Given the description of an element on the screen output the (x, y) to click on. 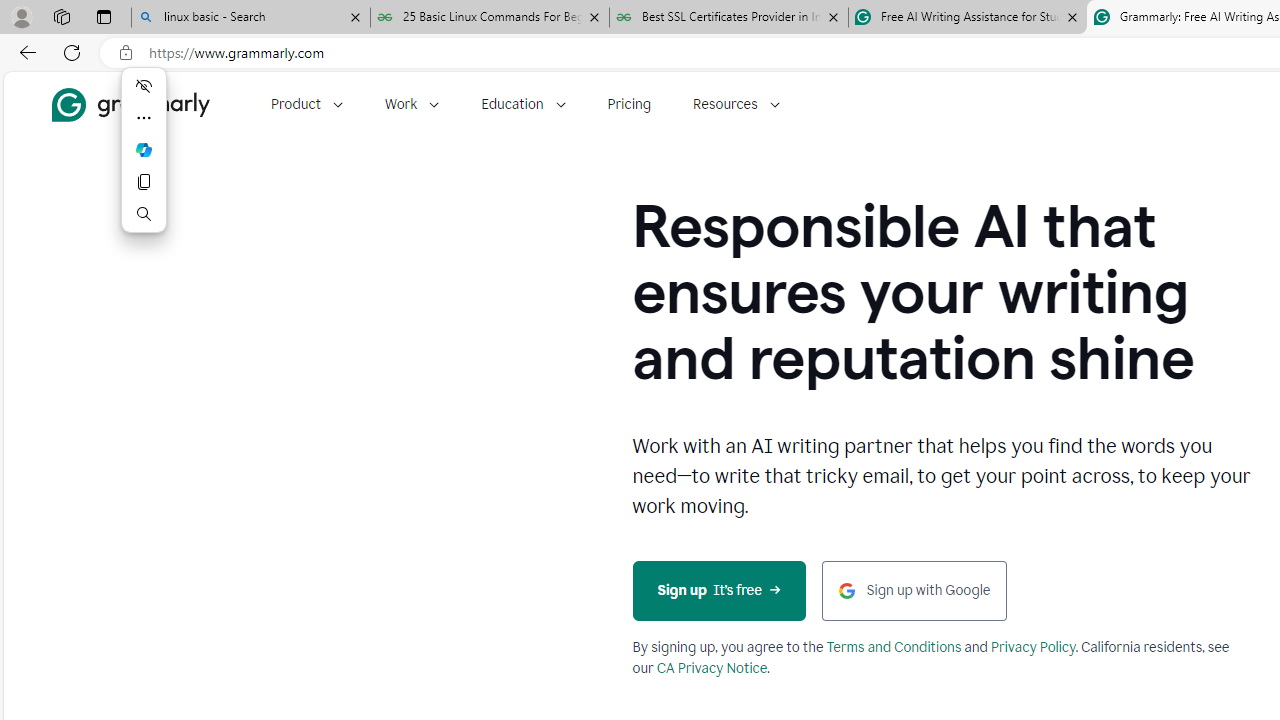
Education (523, 104)
Education (523, 103)
CA Privacy Notice (711, 668)
Ask Copilot (143, 149)
Mini menu on text selection (143, 161)
Work (412, 103)
Mini menu on text selection (143, 149)
